Given the description of an element on the screen output the (x, y) to click on. 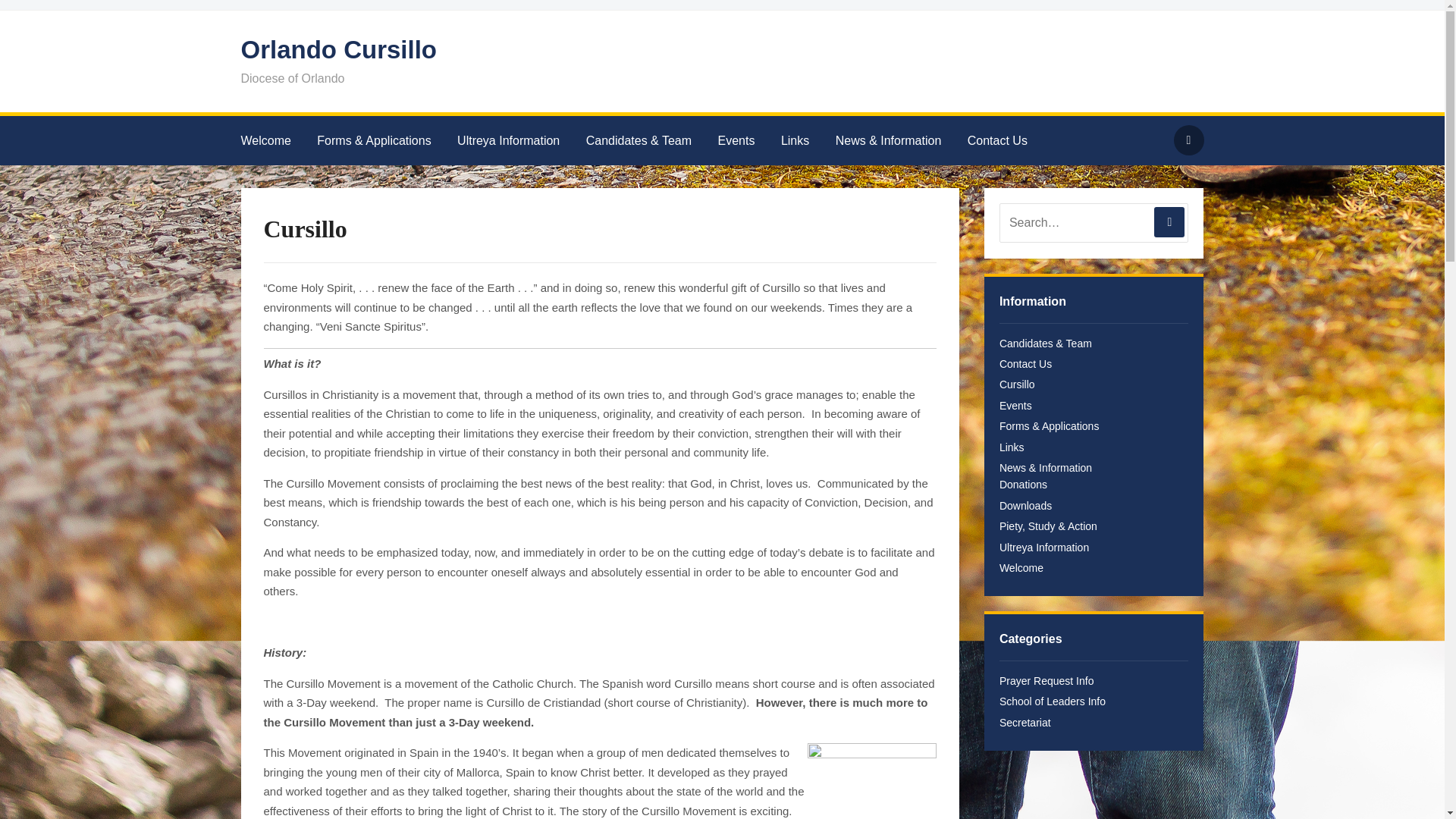
Search (1188, 140)
Cursillo (1016, 384)
Orlando Cursillo (339, 49)
Donations (1022, 484)
Ultreya Information (1043, 547)
Welcome (277, 140)
Contact Us (1024, 363)
Events (1015, 405)
Contact Us (1008, 140)
Ultreya Information (519, 140)
